Given the description of an element on the screen output the (x, y) to click on. 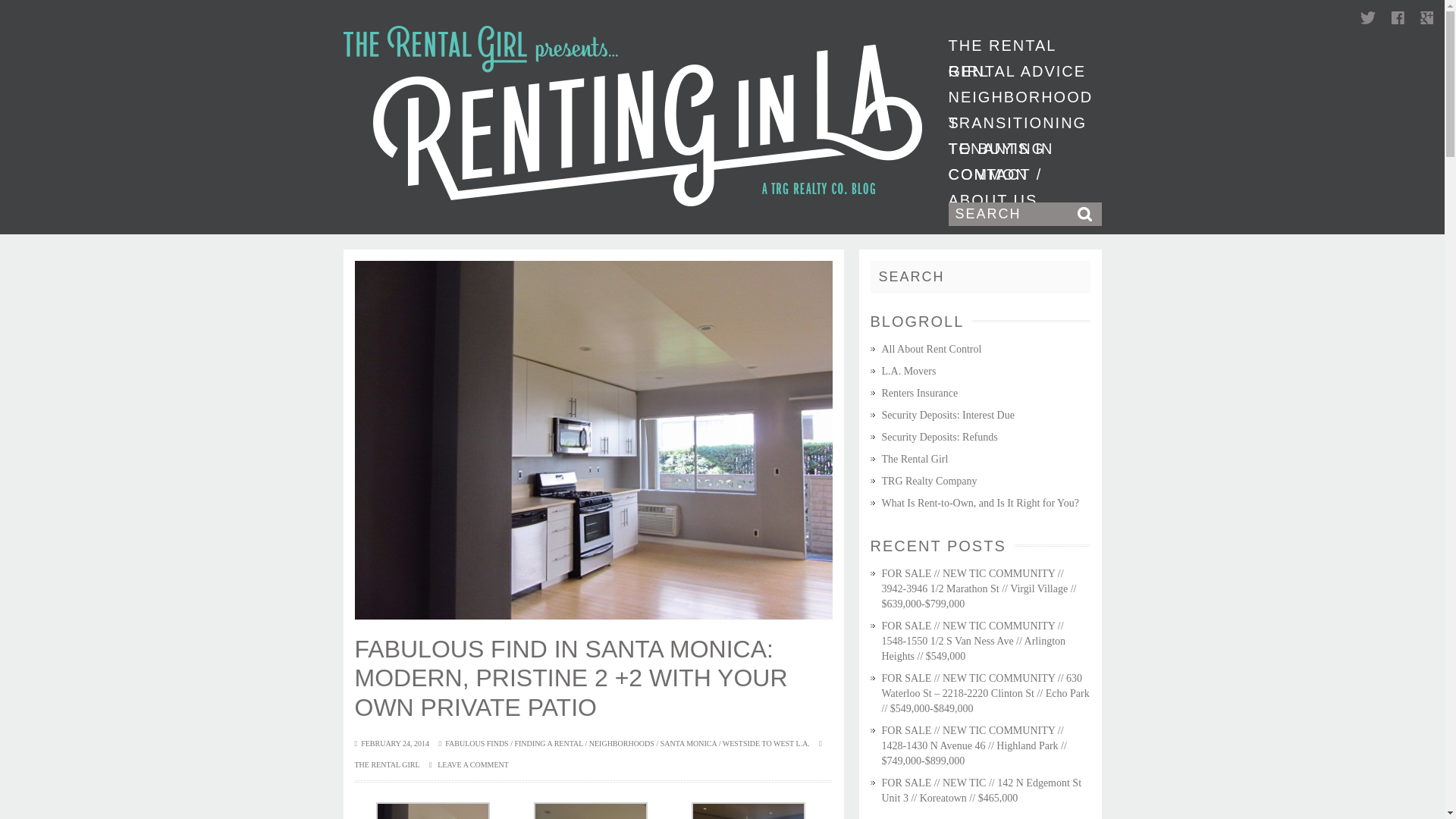
Los Angeles Real Estate  (928, 480)
NEIGHBORHOODS (1020, 96)
SEARCH (1023, 214)
Posts by The Rental Girl (387, 764)
SEARCH (980, 277)
The Rental Girl Blog (631, 115)
LEAVE A COMMENT (468, 764)
SEARCH (980, 277)
googleplus (1426, 17)
